Given the description of an element on the screen output the (x, y) to click on. 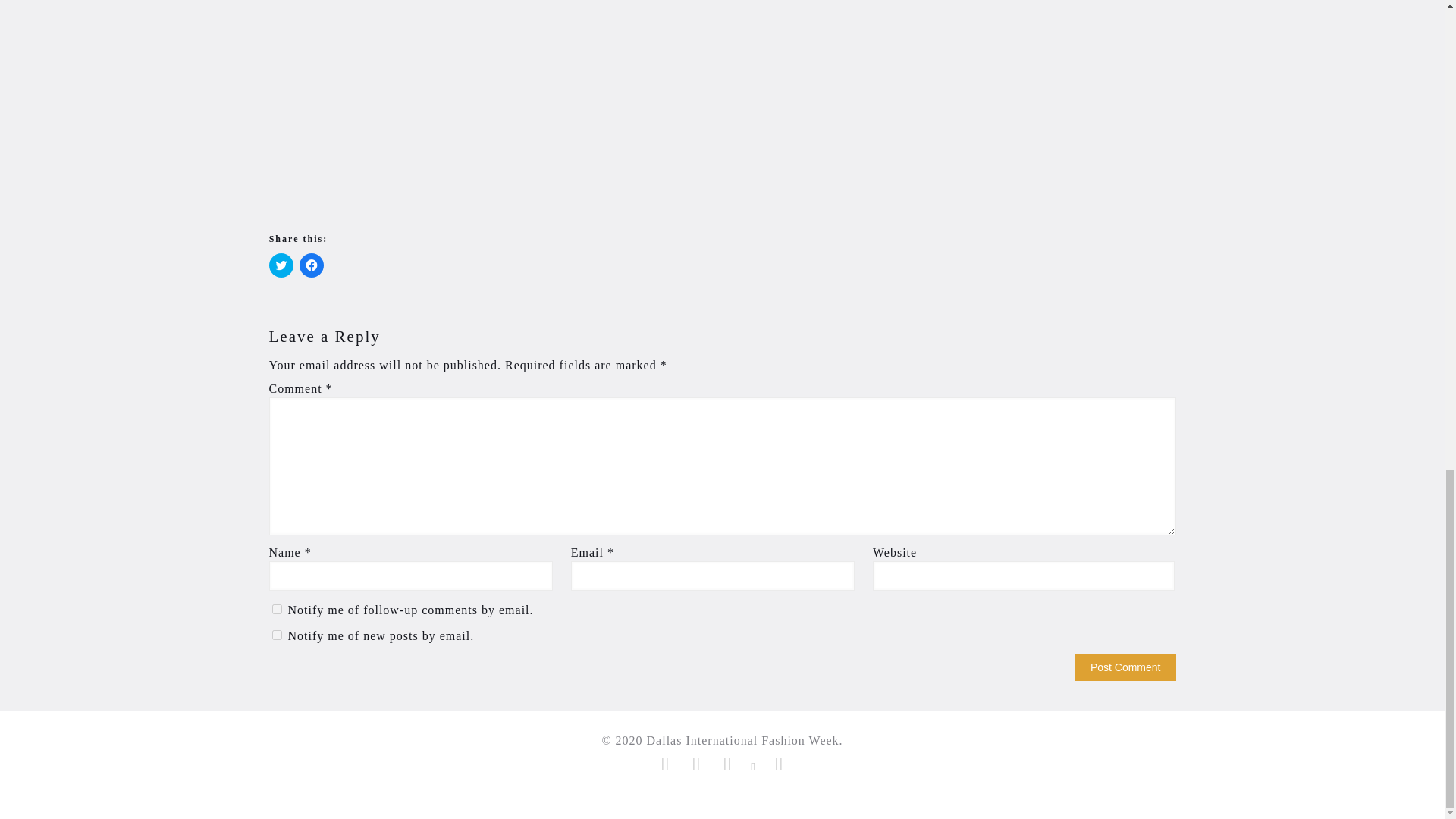
subscribe (275, 609)
Click to share on Facebook (311, 265)
Instagram (778, 766)
subscribe (275, 634)
Facebook (665, 766)
Click to share on Twitter (281, 265)
Post Comment (1125, 666)
Twitter (696, 766)
YouTube (727, 766)
Pinterest (753, 766)
